Given the description of an element on the screen output the (x, y) to click on. 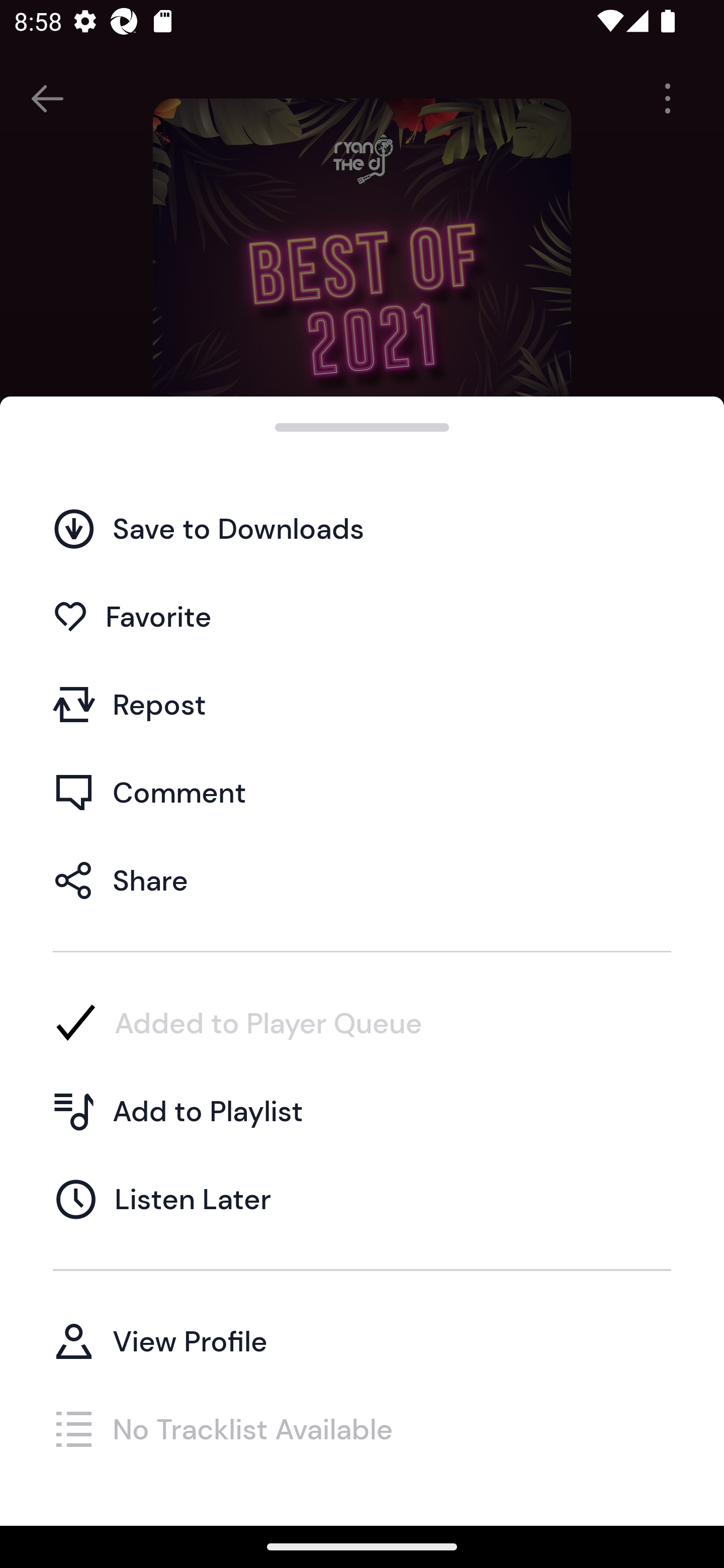
Save to Downloads (361, 528)
Favorite (361, 616)
Repost (361, 703)
Comment (361, 791)
Share (361, 879)
Add to Playlist (361, 1110)
Listen Later (361, 1199)
View Profile (361, 1340)
No Tracklist Available (361, 1428)
